Given the description of an element on the screen output the (x, y) to click on. 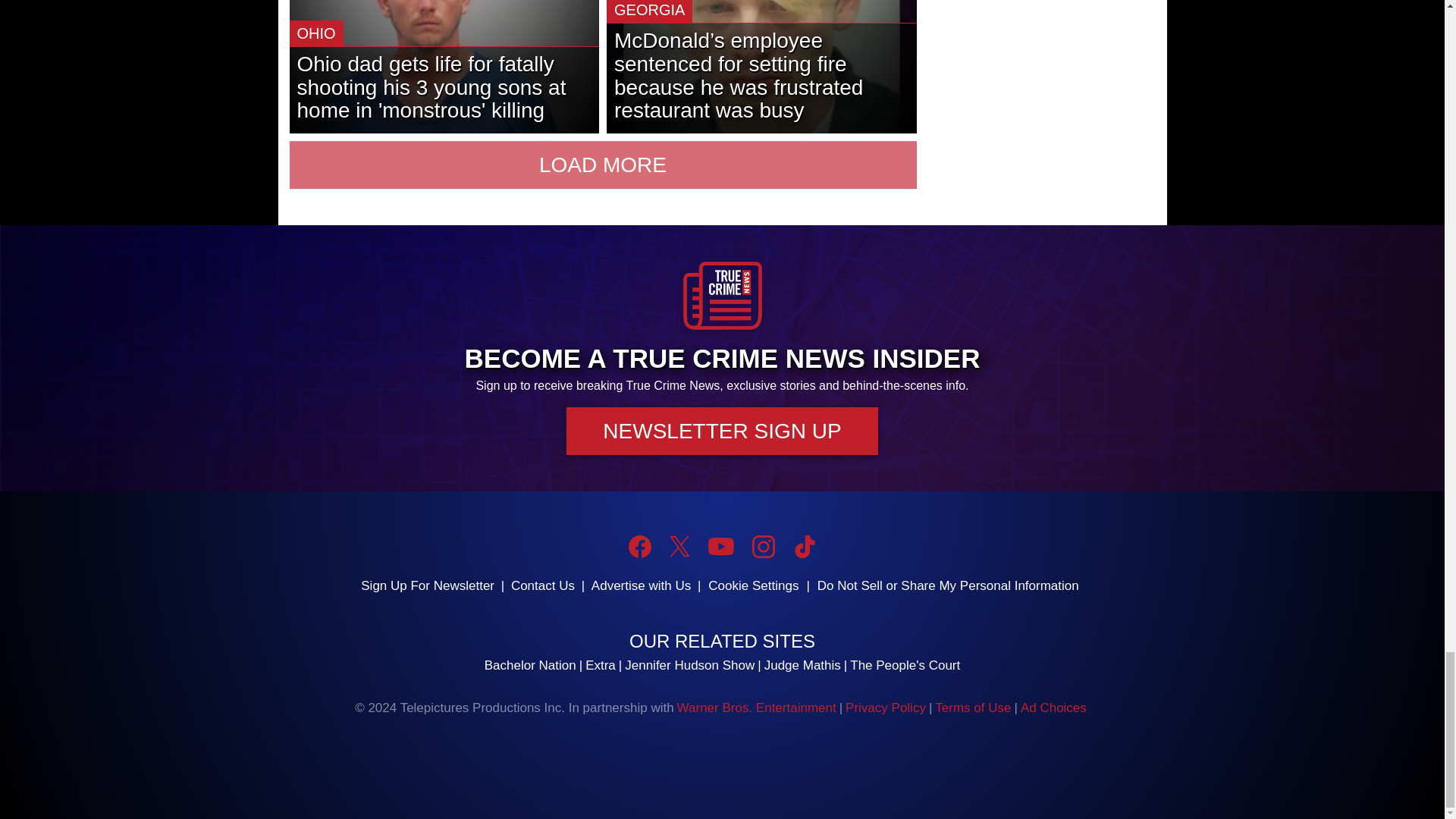
YouTube (720, 546)
Instagram (763, 546)
TikTok (804, 546)
Facebook (639, 546)
Twitter (679, 546)
